Given the description of an element on the screen output the (x, y) to click on. 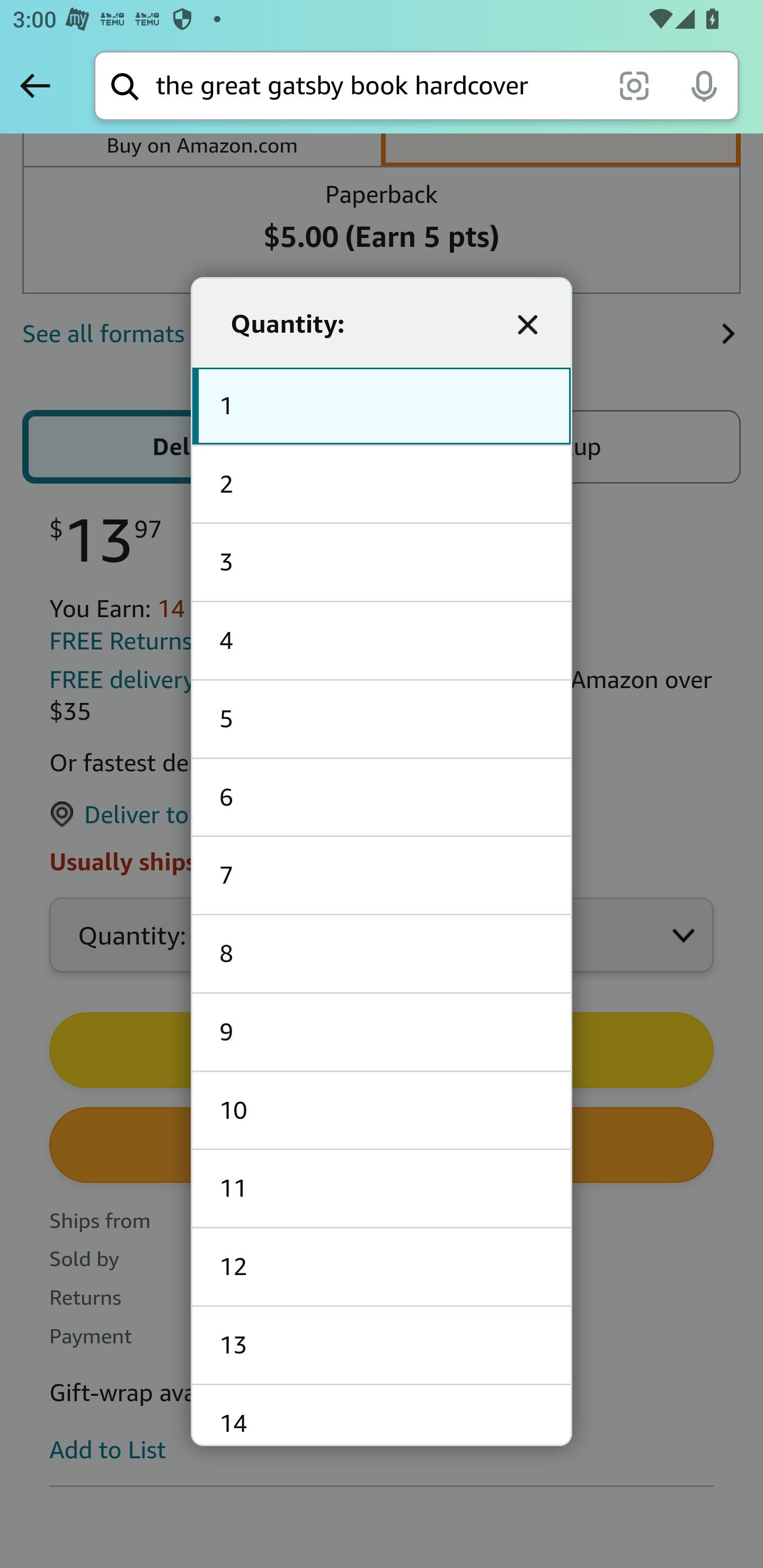
Back (35, 85)
scan it (633, 85)
Close (527, 324)
1 (381, 406)
2 (381, 484)
3 (381, 562)
4 (381, 642)
5 (381, 719)
6 (381, 797)
7 (381, 876)
8 (381, 954)
9 (381, 1032)
10 (381, 1110)
11 (381, 1189)
12 (381, 1267)
13 (381, 1346)
14 (381, 1414)
